Given the description of an element on the screen output the (x, y) to click on. 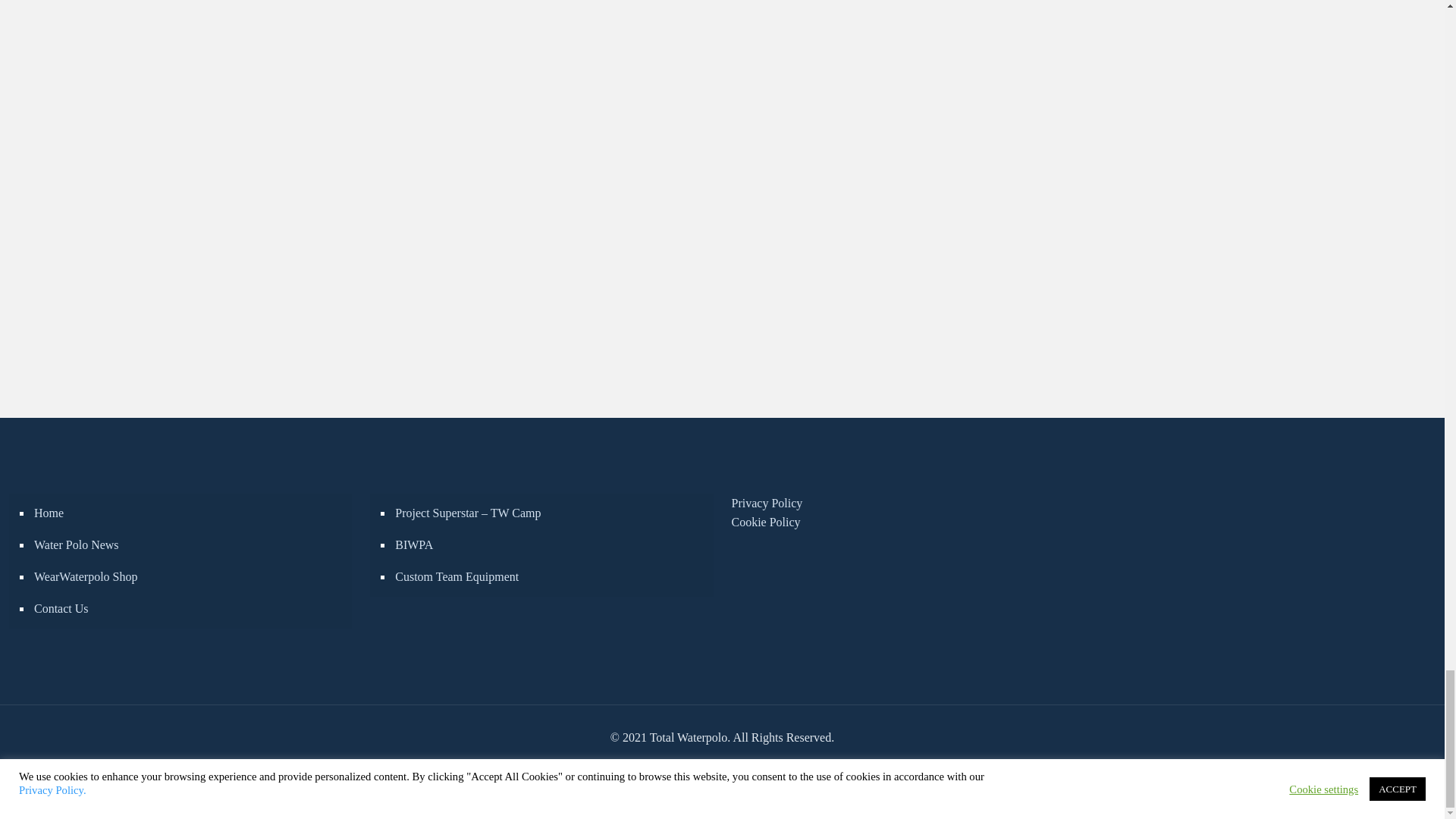
Privacy Policy  (766, 502)
LinkedIn (730, 764)
Instagram (745, 764)
Cookie Policy  (764, 521)
Facebook (698, 764)
